Given the description of an element on the screen output the (x, y) to click on. 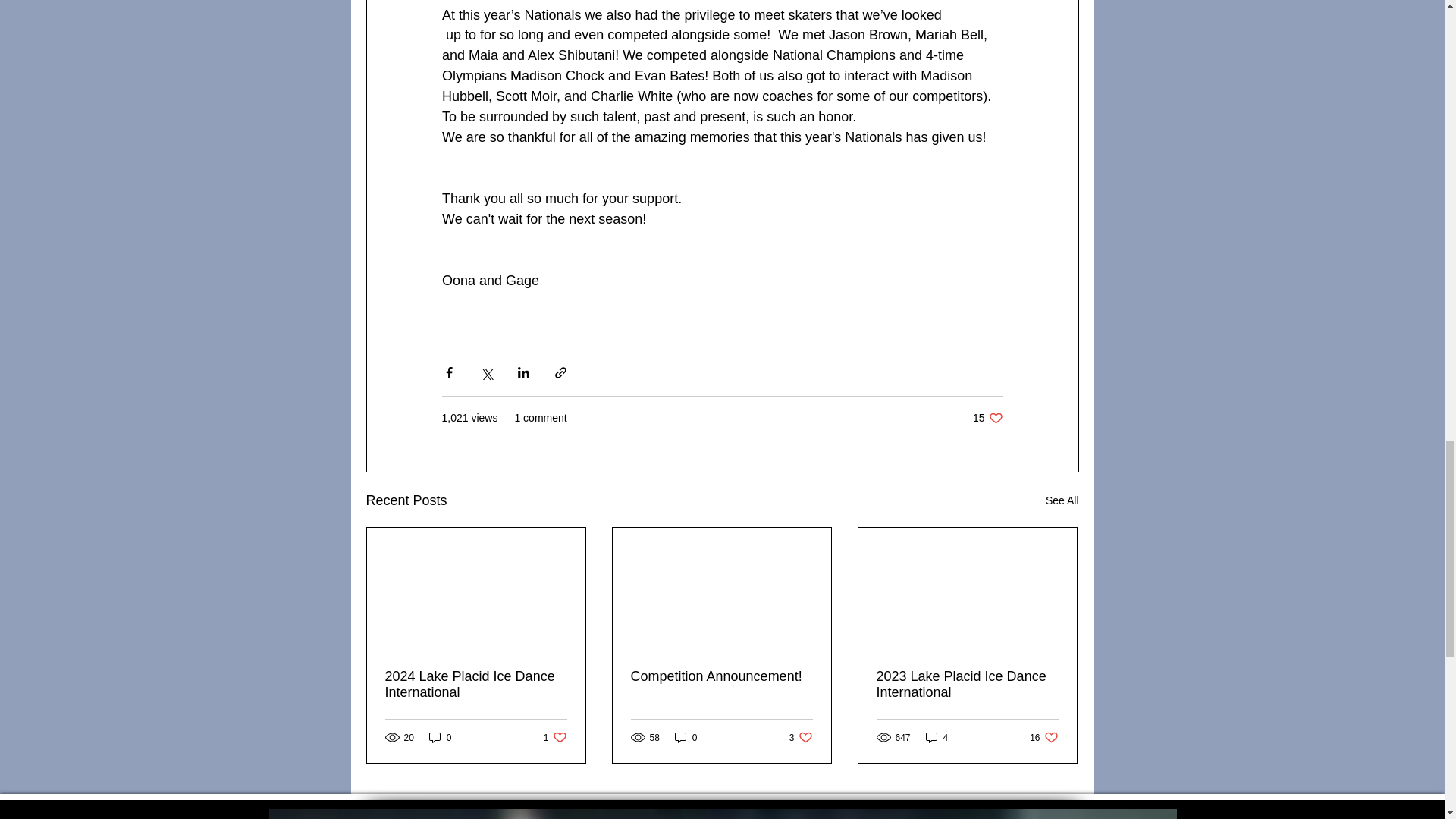
0 (800, 737)
4 (987, 418)
Competition Announcement! (555, 737)
0 (685, 737)
See All (937, 737)
2024 Lake Placid Ice Dance International (721, 676)
